Given the description of an element on the screen output the (x, y) to click on. 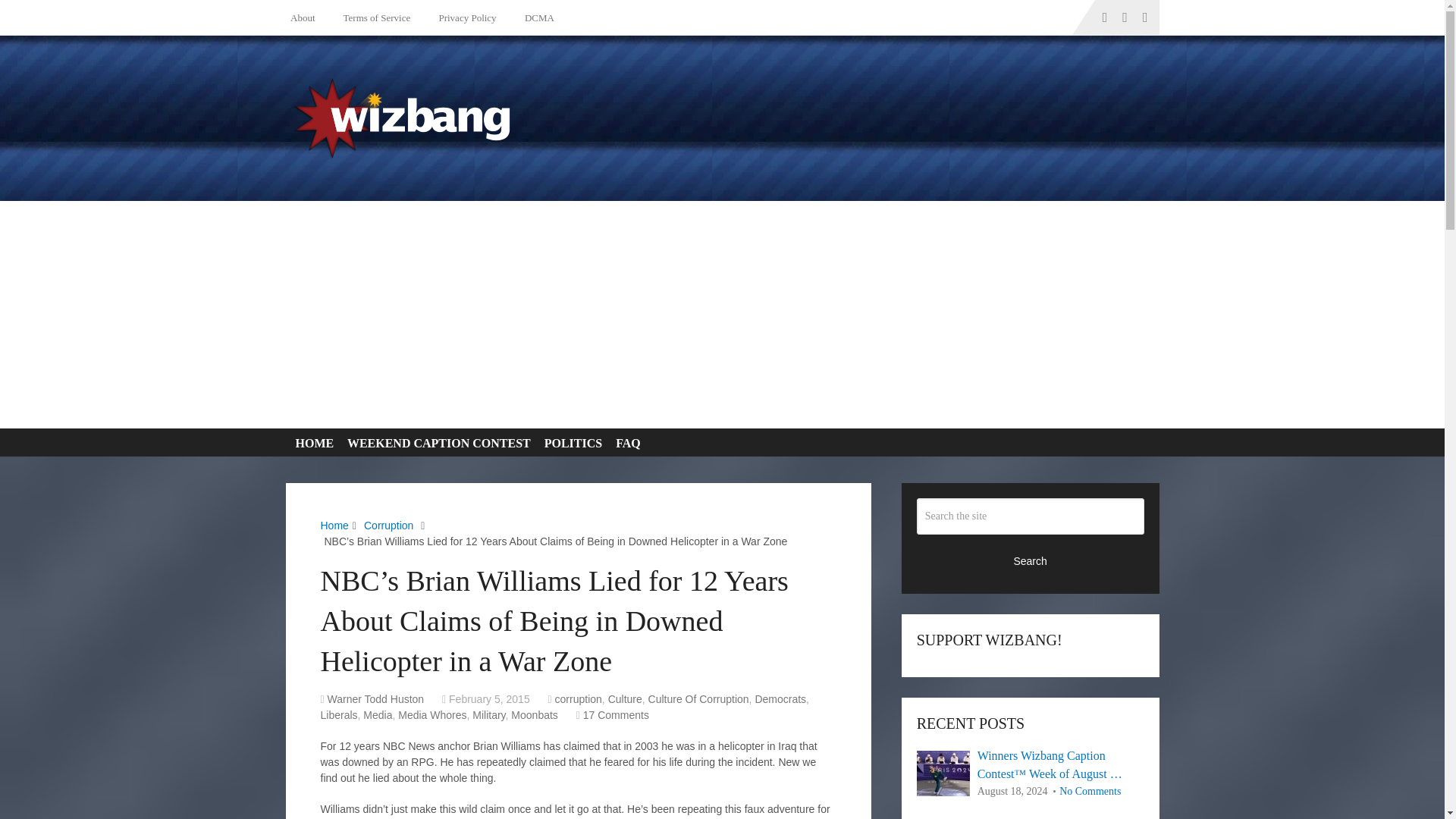
17 Comments (616, 715)
Media Whores (431, 715)
corruption (578, 698)
View all posts in Liberals (338, 715)
About (305, 17)
Home (333, 525)
View all posts in corruption (578, 698)
View all posts in Culture (625, 698)
Warner Todd Huston (376, 698)
Privacy Policy (464, 17)
